Given the description of an element on the screen output the (x, y) to click on. 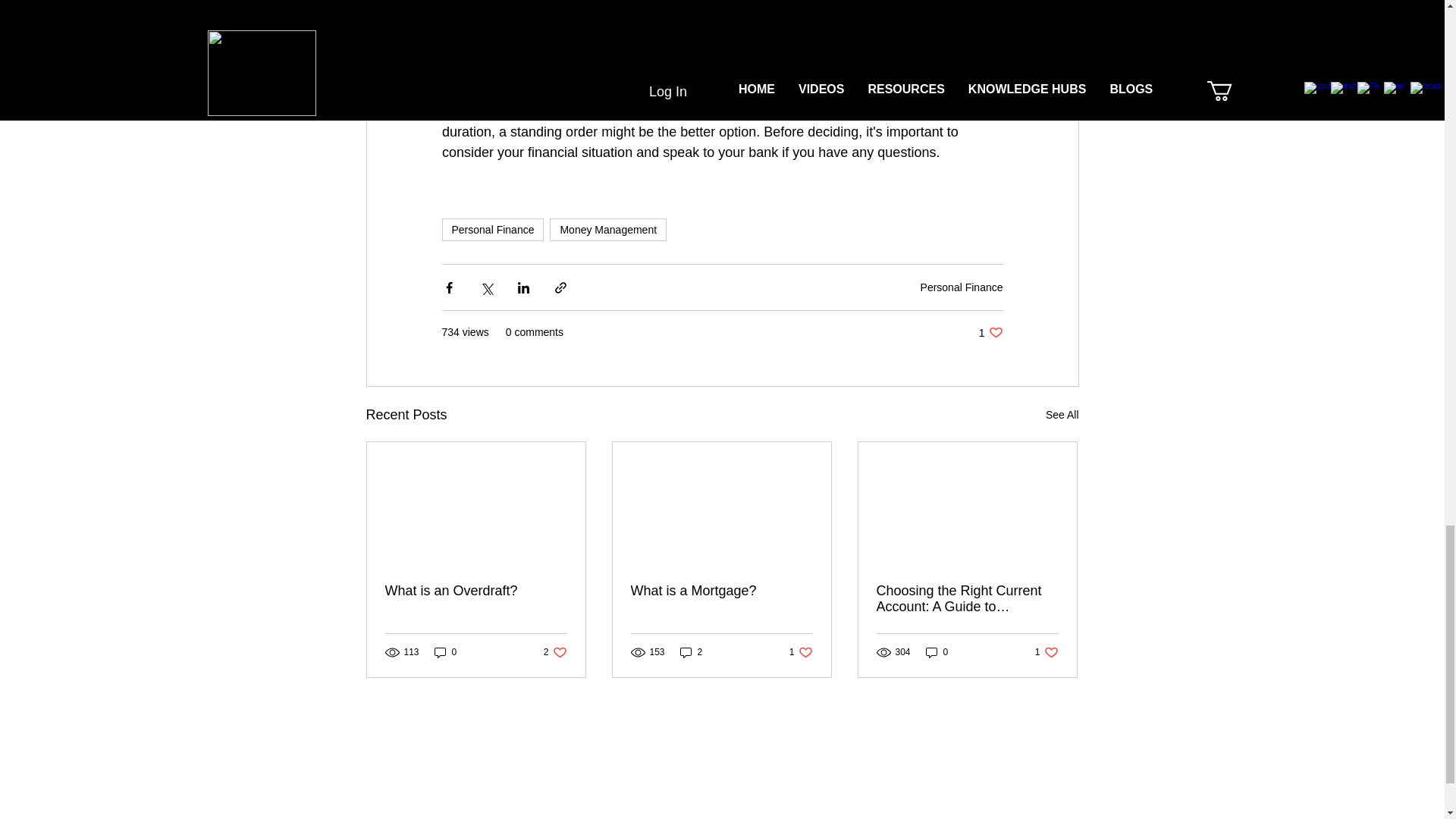
Money Management (608, 229)
Personal Finance (492, 229)
Personal Finance (961, 287)
